Given the description of an element on the screen output the (x, y) to click on. 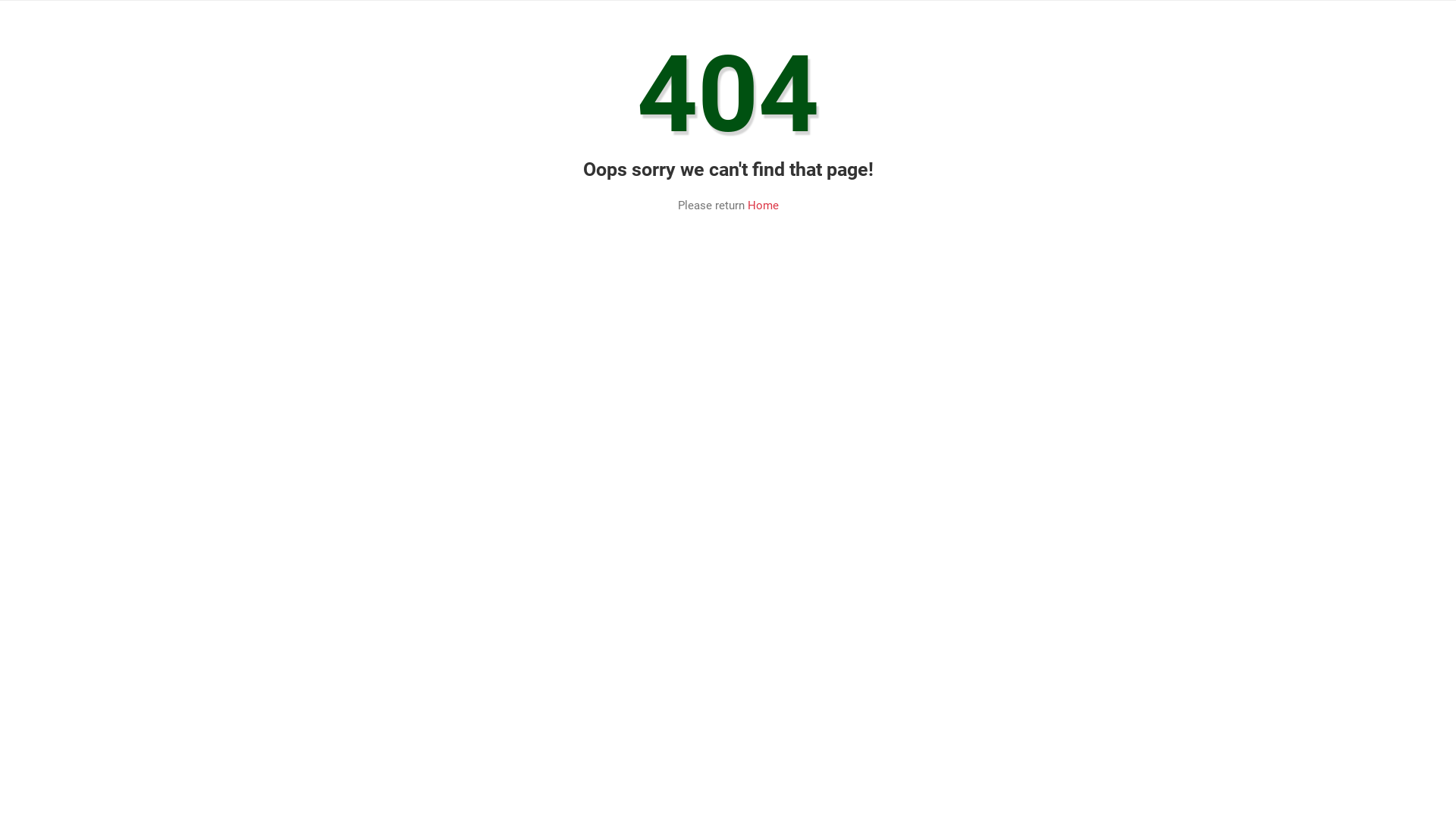
Home Element type: text (762, 205)
